Given the description of an element on the screen output the (x, y) to click on. 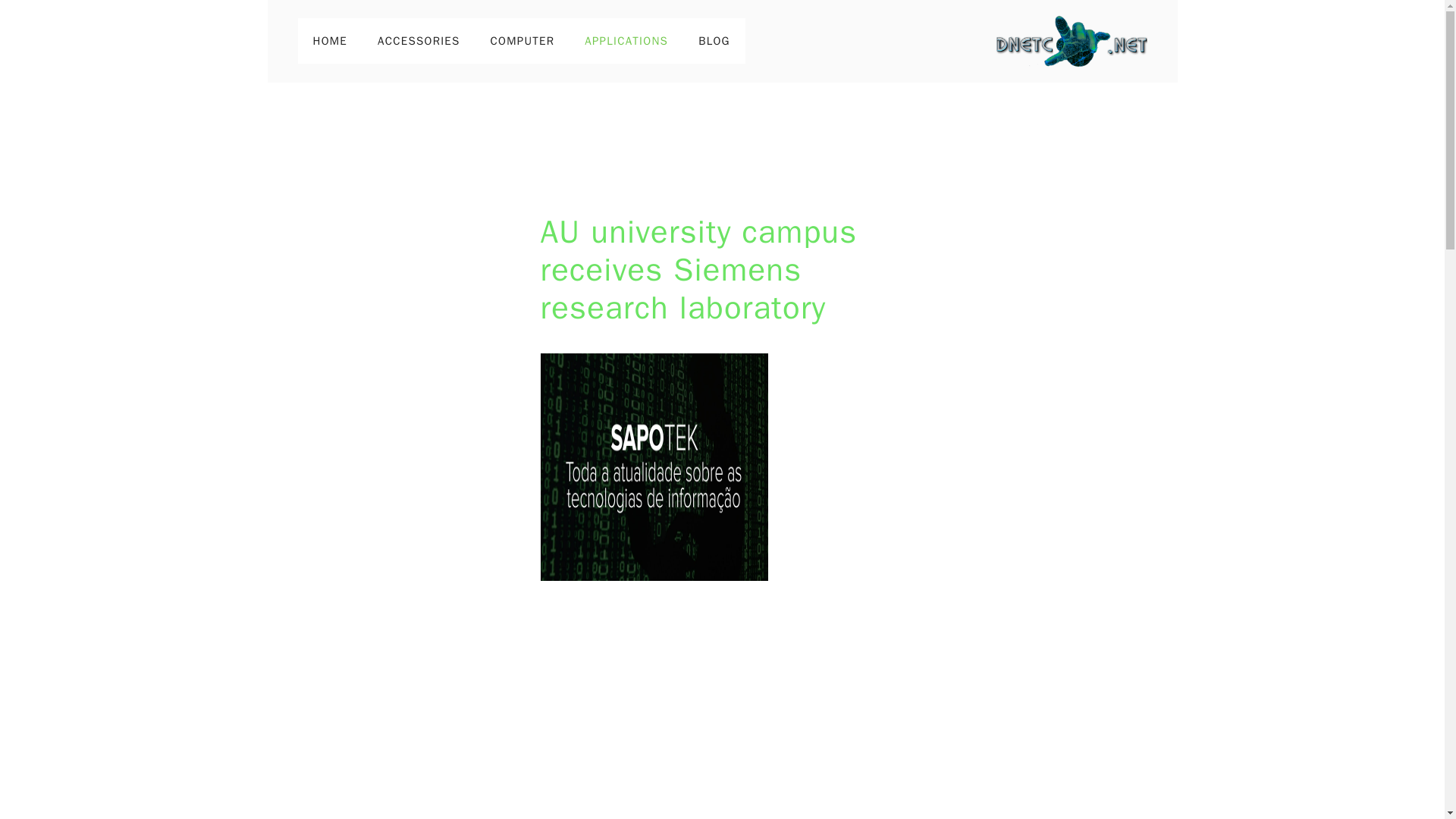
HOME (329, 40)
BLOG (713, 40)
APPLICATIONS (625, 40)
ACCESSORIES (419, 40)
COMPUTER (523, 40)
